Given the description of an element on the screen output the (x, y) to click on. 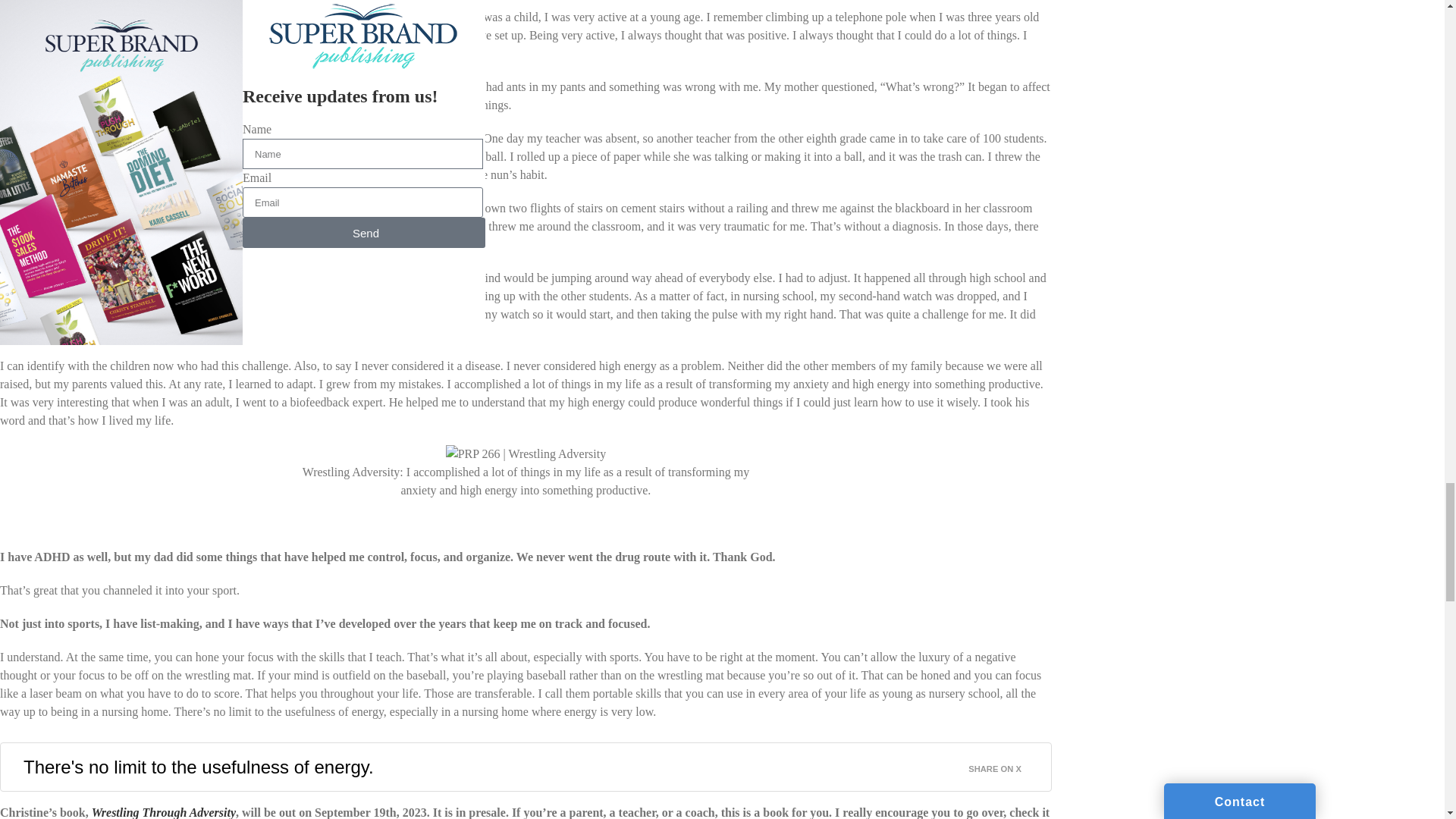
There's no limit to the usefulness of energy. (198, 766)
SHARE ON X (1003, 764)
Wrestling Through Adversity (163, 812)
